Given the description of an element on the screen output the (x, y) to click on. 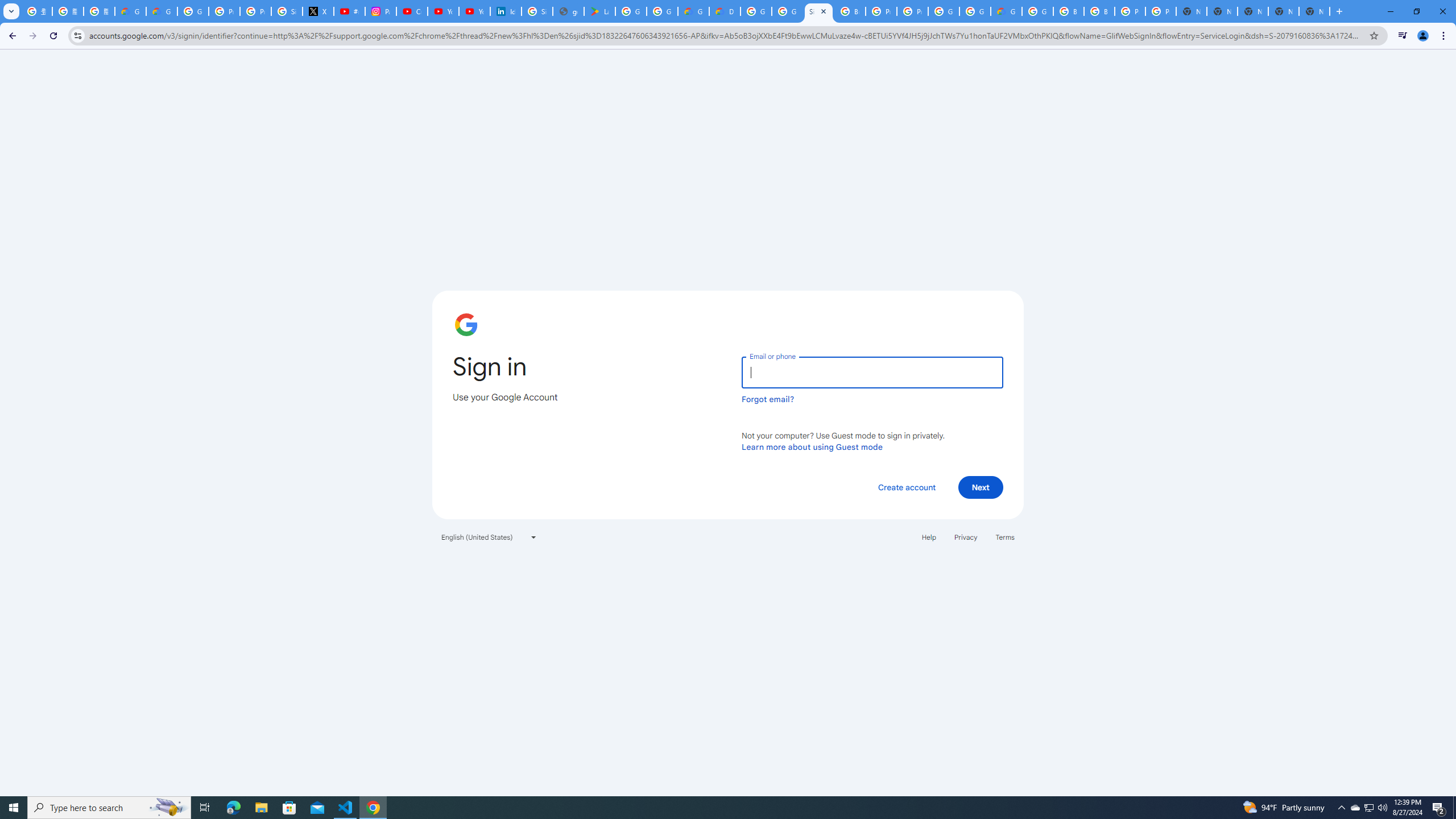
Browse Chrome as a guest - Computer - Google Chrome Help (1068, 11)
X (318, 11)
Privacy Help Center - Policies Help (255, 11)
Google Cloud Platform (974, 11)
Last Shelter: Survival - Apps on Google Play (599, 11)
